Given the description of an element on the screen output the (x, y) to click on. 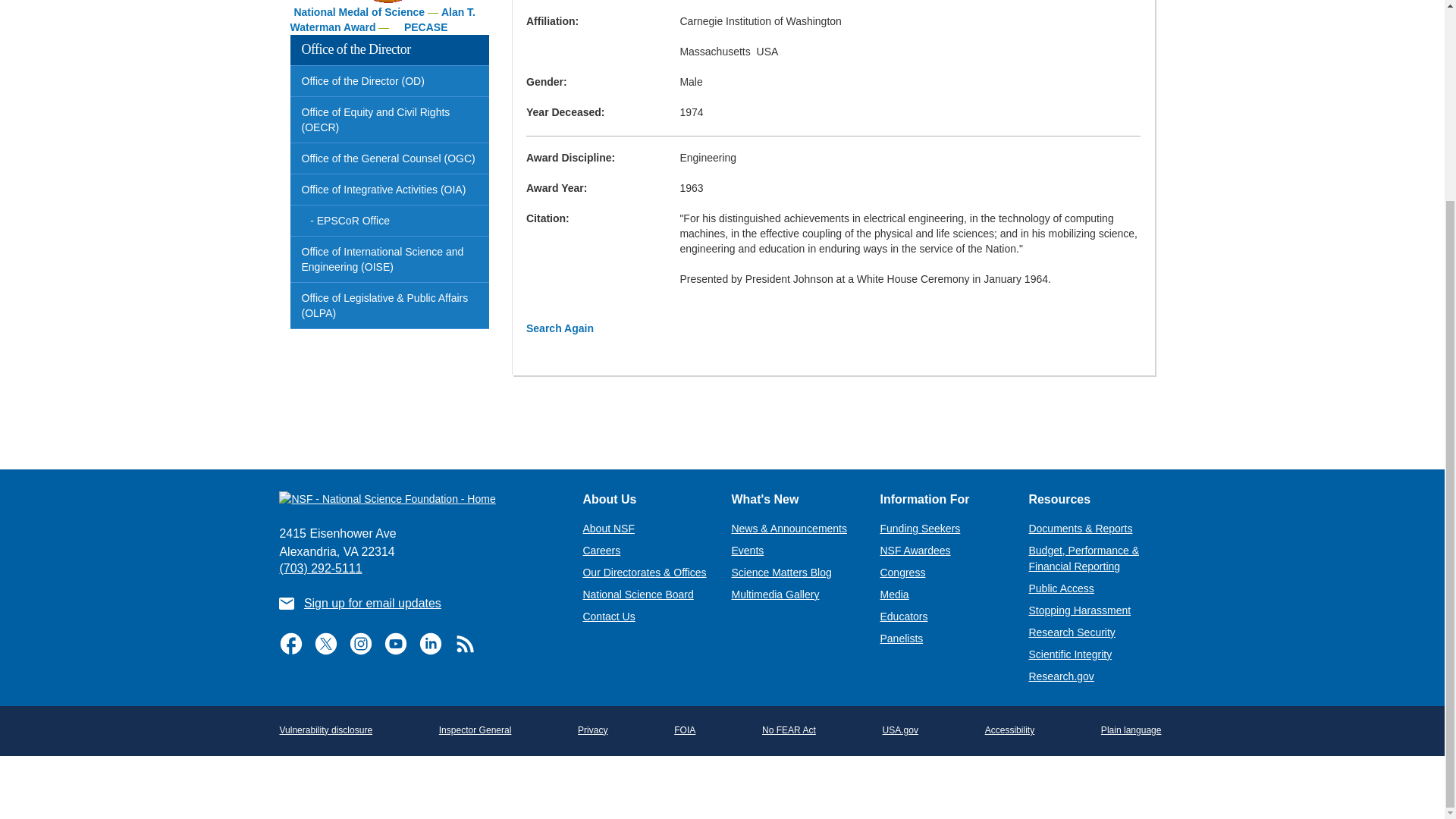
About NSF (607, 528)
National Medal of Science (359, 11)
NSF - National Science Foundation - Home (418, 498)
Sign up for email updates (372, 603)
Alan T. Waterman Award (382, 19)
Careers (601, 550)
Search Again (559, 328)
PECASE (426, 27)
National Science Board (637, 594)
   - EPSCoR Office (389, 220)
